Given the description of an element on the screen output the (x, y) to click on. 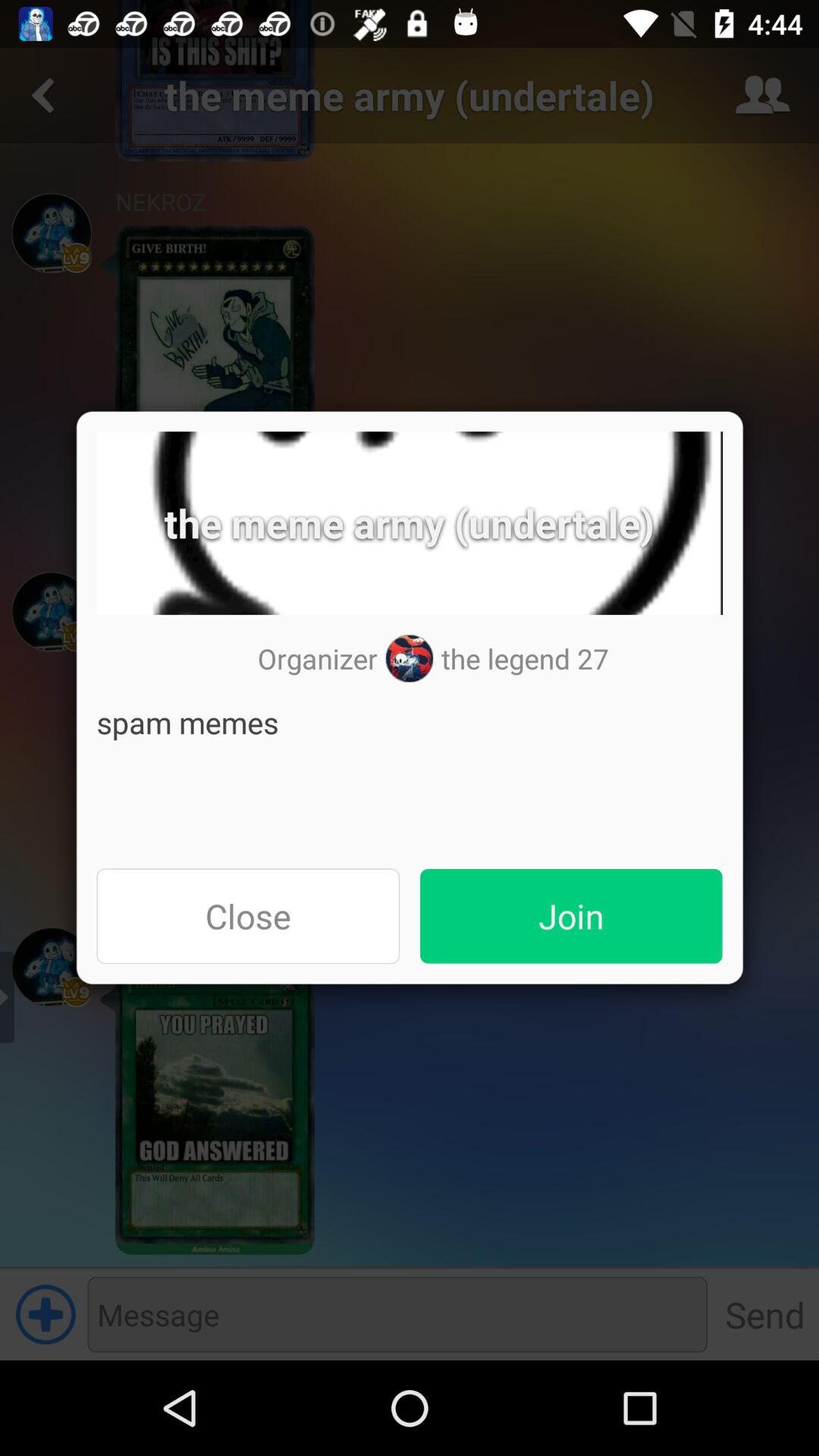
open the icon next to the join (247, 916)
